Given the description of an element on the screen output the (x, y) to click on. 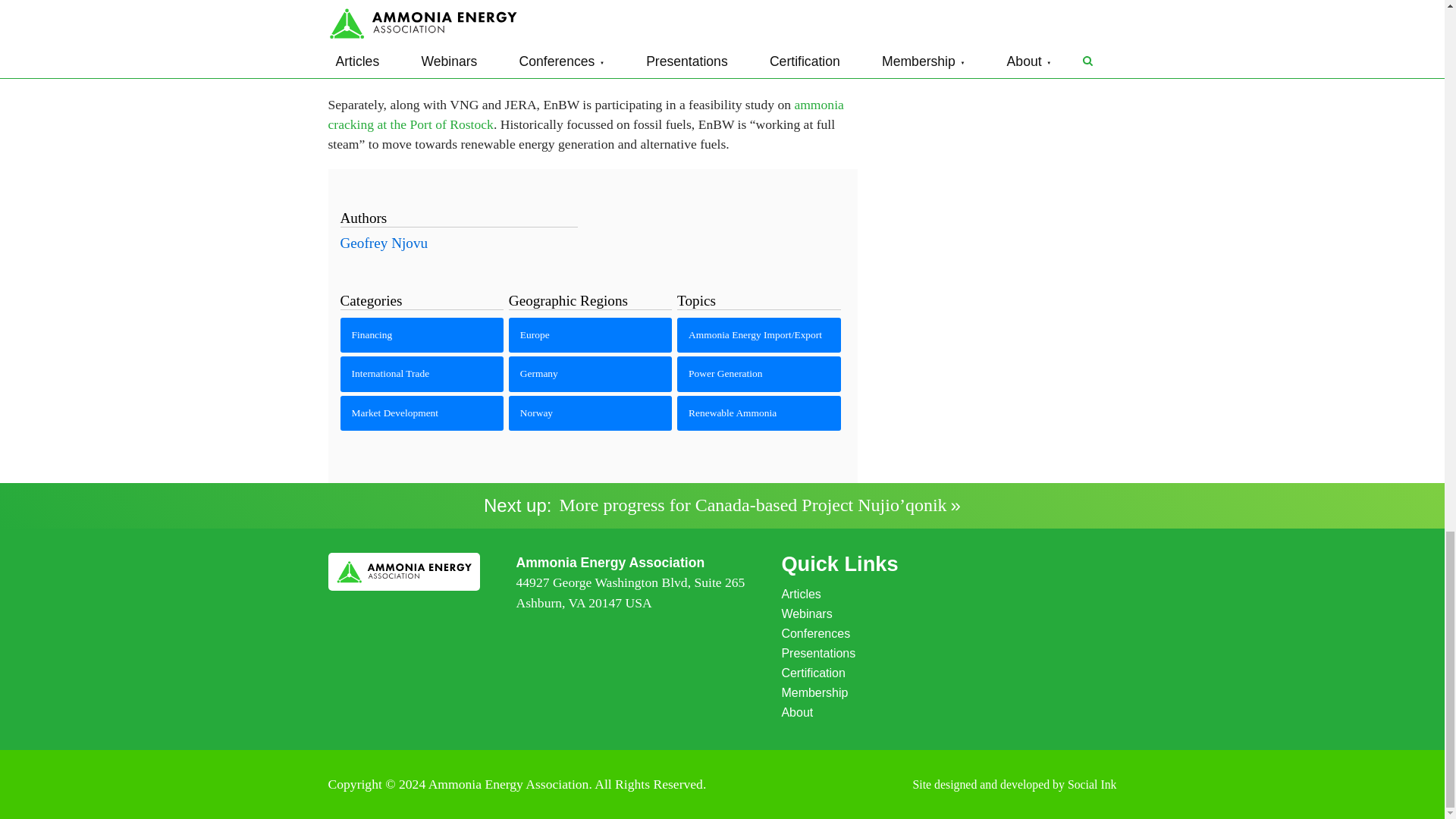
See other items in Renewable Ammonia Topics (759, 412)
See other items in Financing Categories (421, 334)
See other items in International Trade Categories (421, 373)
See other items in Europe Geographic Regions (590, 334)
See other items in Germany Geographic Regions (590, 373)
See other items in Power Generation Topics (759, 373)
See other items in Norway Geographic Regions (590, 412)
press release (718, 9)
See other items in Market Development Categories (421, 412)
